Given the description of an element on the screen output the (x, y) to click on. 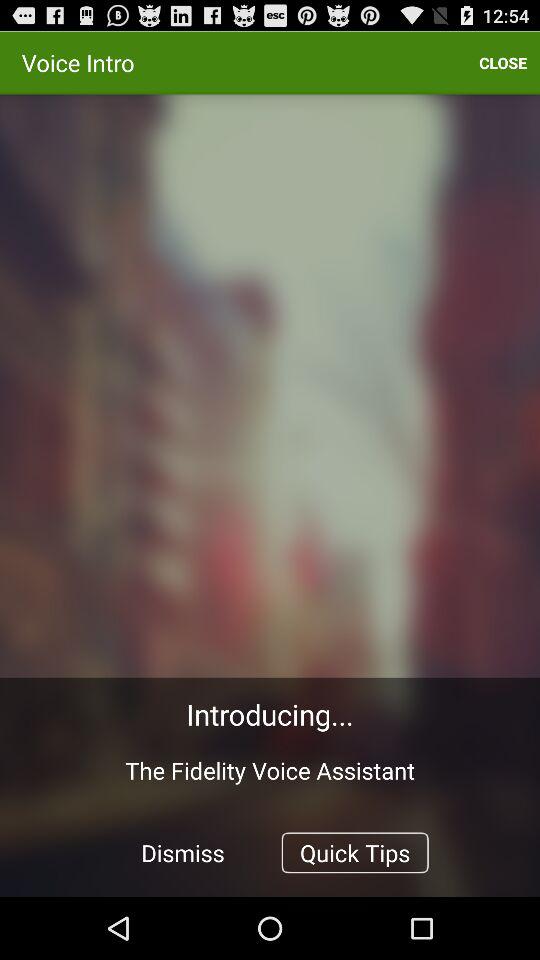
choose icon at the top right corner (503, 62)
